Given the description of an element on the screen output the (x, y) to click on. 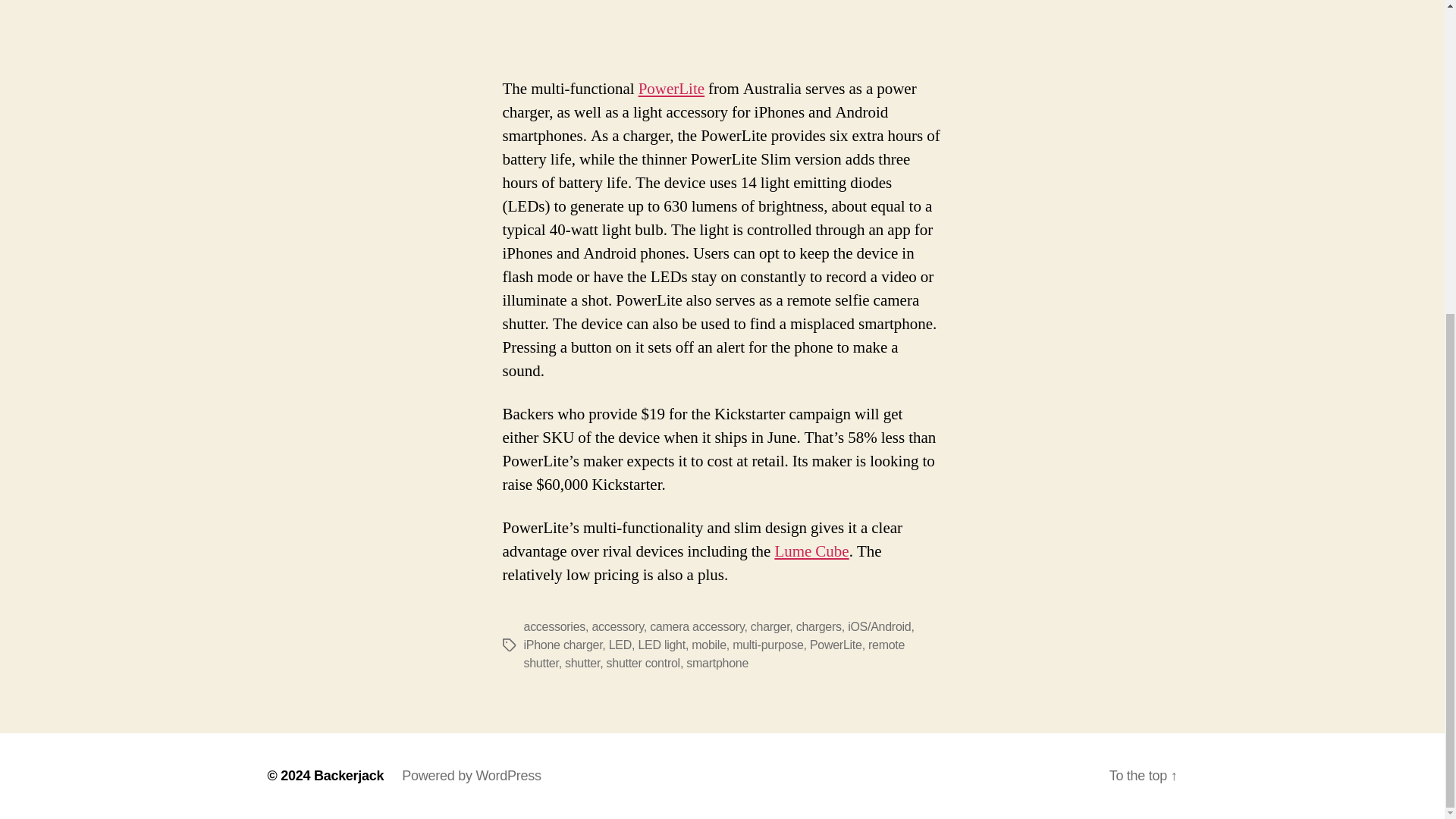
shutter control (643, 662)
camera accessory (696, 626)
remote shutter (713, 653)
chargers (818, 626)
shutter (581, 662)
PowerLite (835, 644)
accessories (553, 626)
accessory (617, 626)
Lume Cube (811, 551)
mobile (708, 644)
LED (619, 644)
LED light (661, 644)
PowerLite (671, 88)
charger (770, 626)
iPhone charger (562, 644)
